Given the description of an element on the screen output the (x, y) to click on. 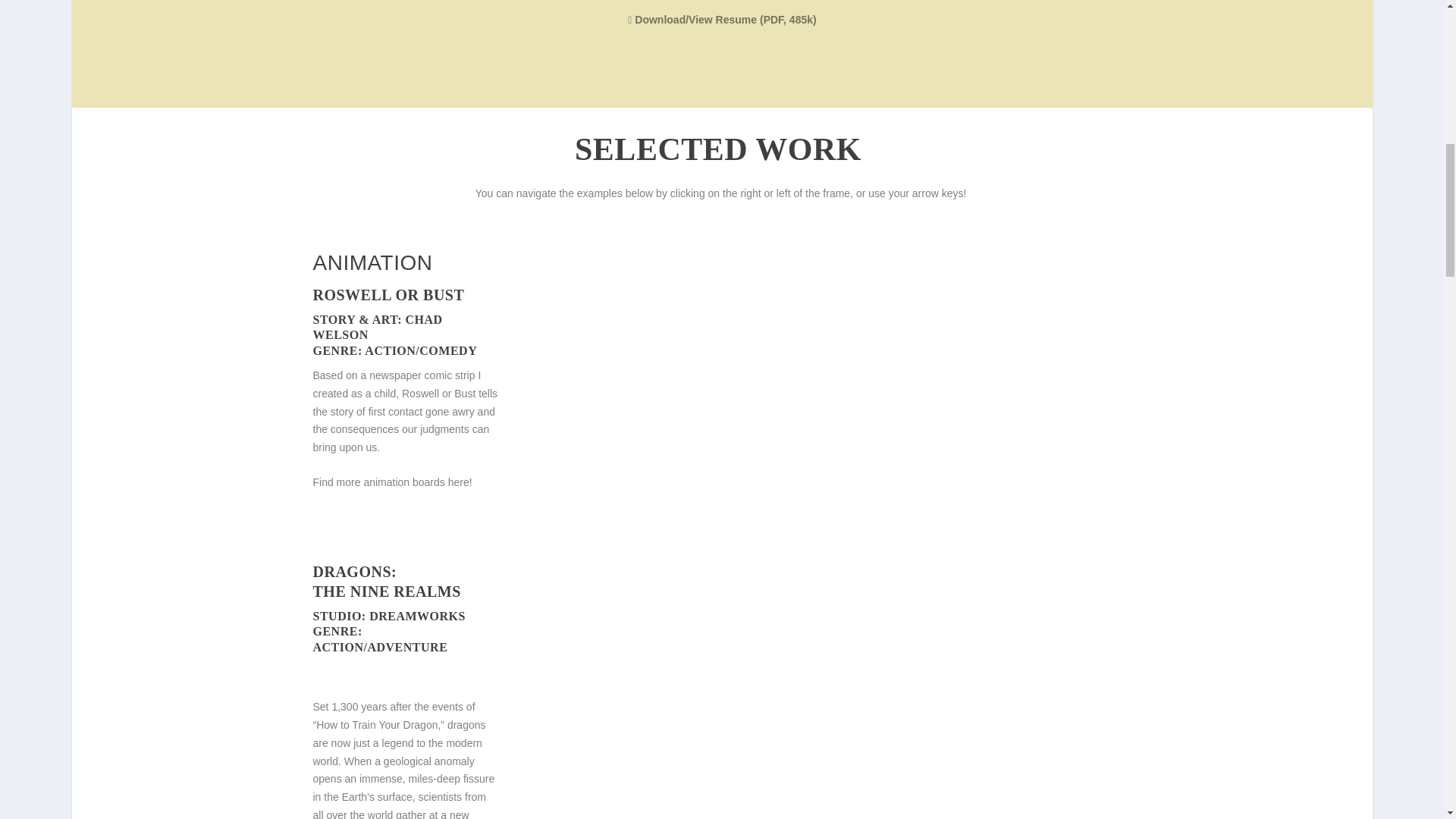
Animation Storyboards (372, 262)
here (458, 481)
Chad Welson, Director and Story Artist (692, 19)
ANIMATION (372, 262)
Animation Storyboards (458, 481)
